Given the description of an element on the screen output the (x, y) to click on. 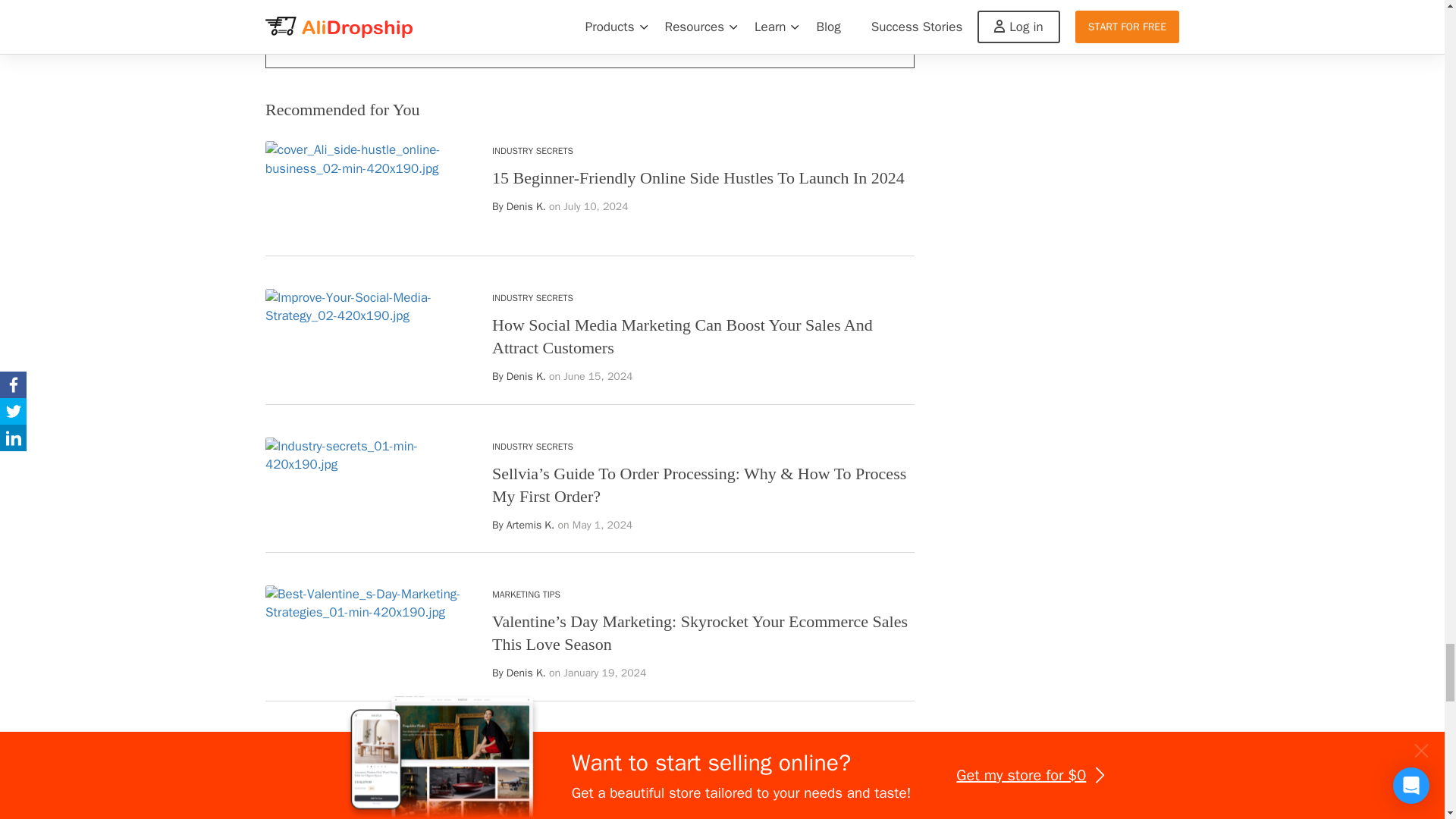
15 Beginner-Friendly Online Side Hustles To Launch In 2024 (698, 177)
